Given the description of an element on the screen output the (x, y) to click on. 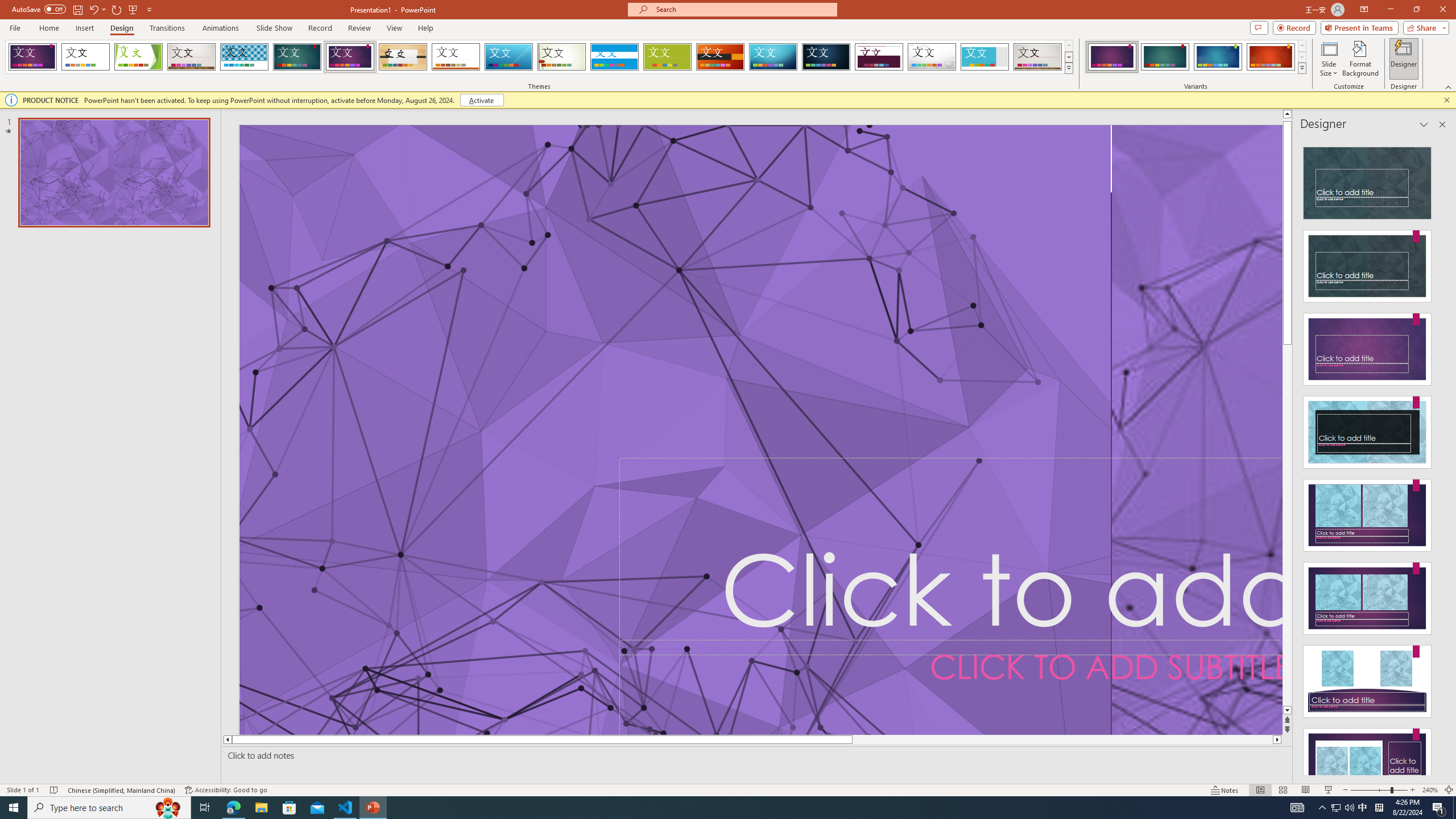
Close this message (1446, 99)
Class: NetUIScrollBar (1441, 456)
Format Background (1360, 58)
Berlin (720, 56)
An abstract genetic concept (1197, 429)
Accessibility Checker Accessibility: Good to go (226, 790)
Ion (296, 56)
Ion Boardroom Variant 1 (1112, 56)
Facet (138, 56)
